Given the description of an element on the screen output the (x, y) to click on. 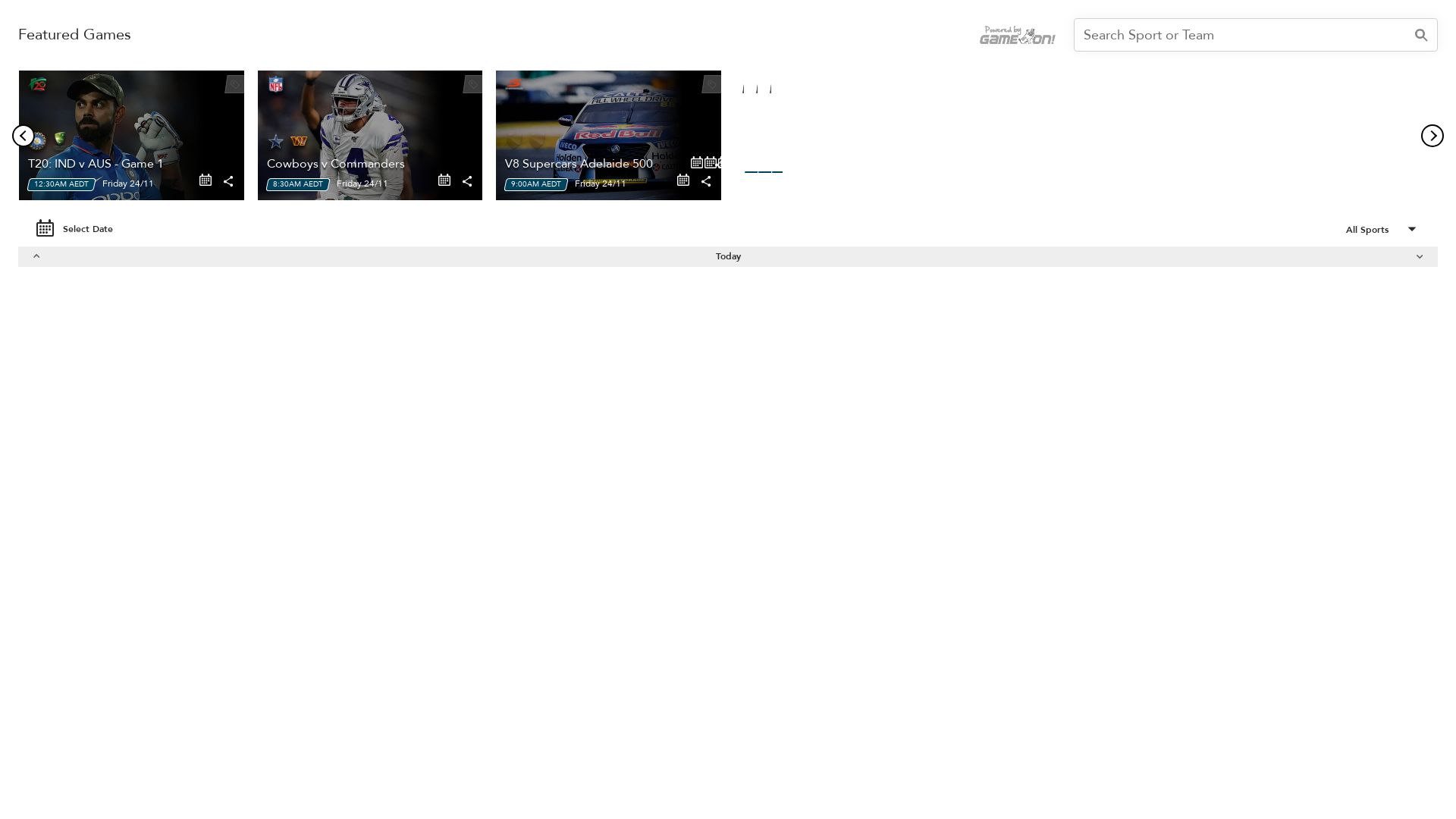
T20: IND v AUS - Game 1
12:30AM AEDT
Friday 24/11 Element type: text (131, 135)
V8 Supercars Adelaide 500
9:00AM AEDT
Friday 24/11 Element type: text (608, 135)
Cowboys v Commanders
8:30AM AEDT
Friday 24/11 Element type: text (370, 135)
